Given the description of an element on the screen output the (x, y) to click on. 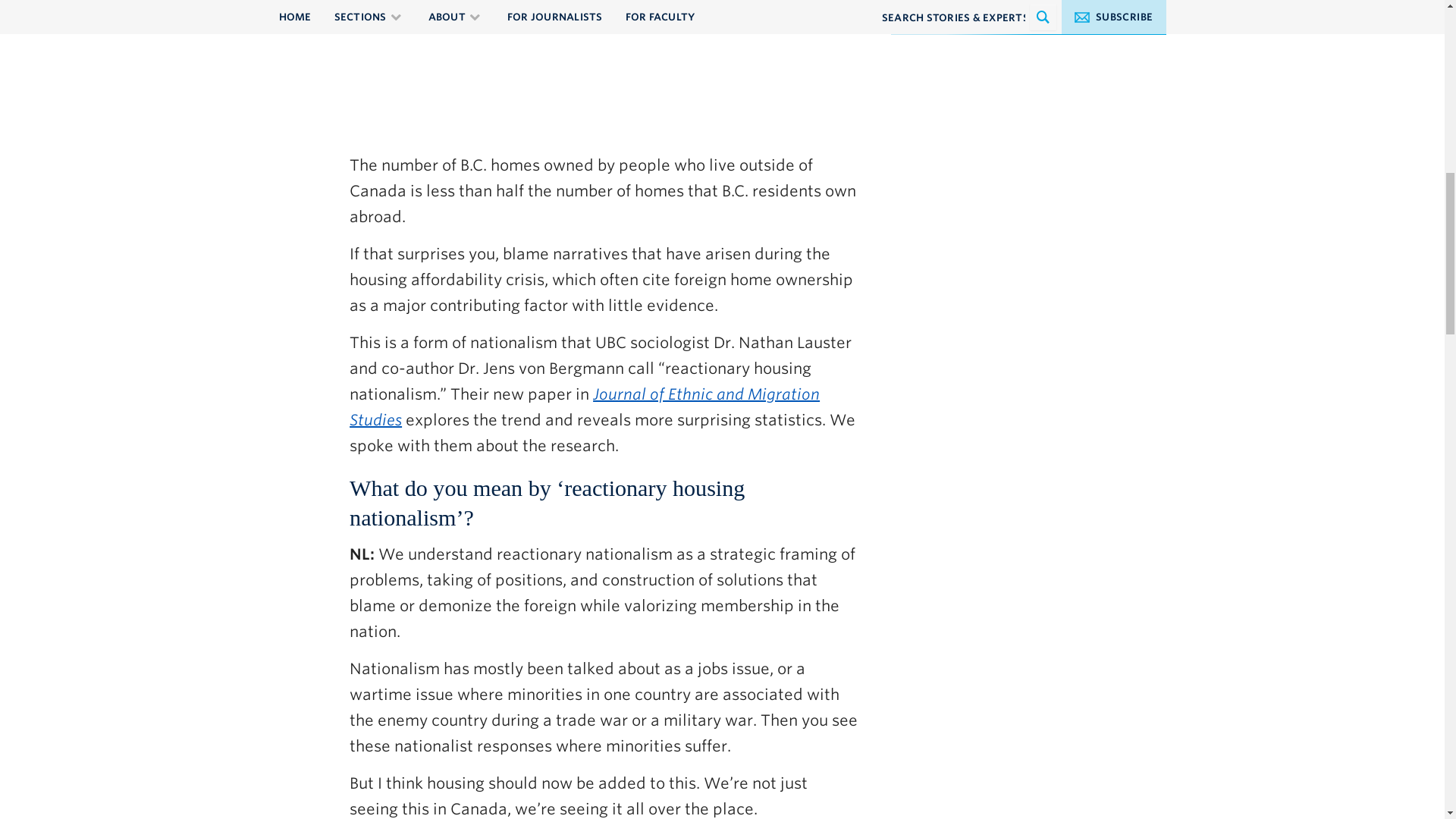
Journal of Ethnic and Migration Studies (584, 406)
Unsplash (1113, 2)
Veronica Dudarev (1018, 2)
